Given the description of an element on the screen output the (x, y) to click on. 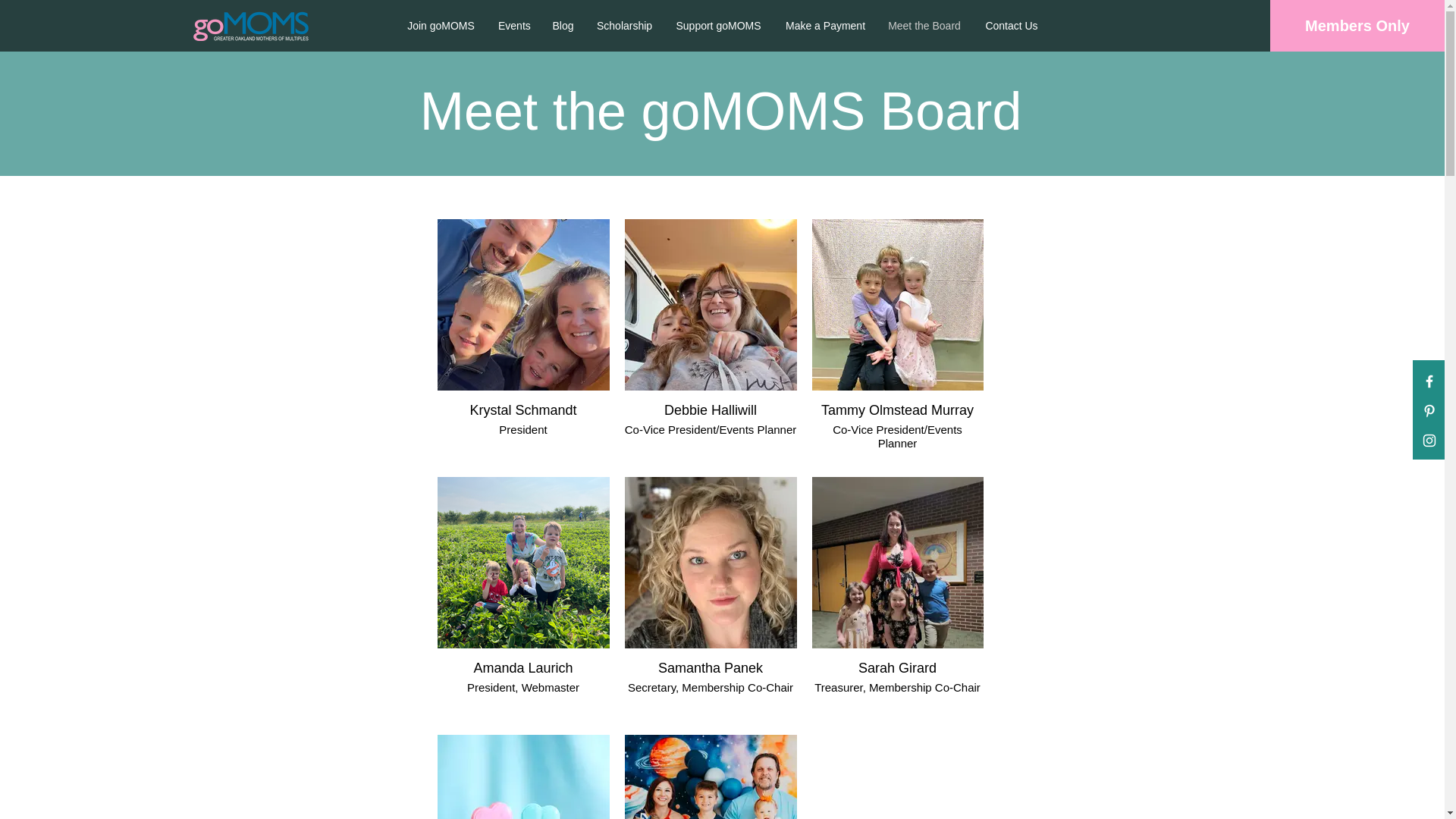
Scholarship (623, 26)
Contact Us (1011, 26)
Events (513, 26)
Make a Payment (824, 26)
Blog (562, 26)
Join goMOMS (440, 26)
Support goMOMS (718, 26)
Meet the Board (924, 26)
